Given the description of an element on the screen output the (x, y) to click on. 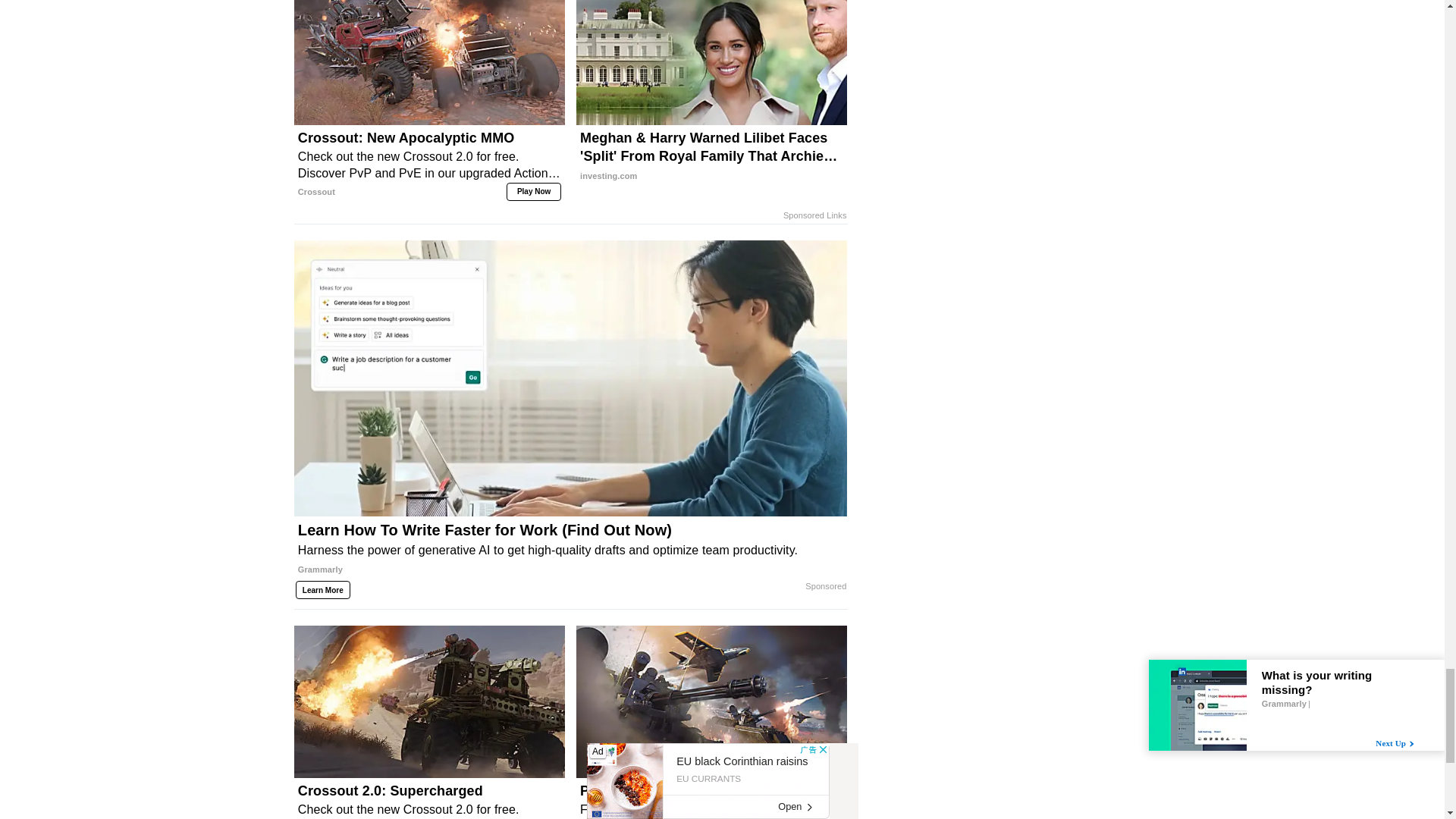
Sponsored Links (815, 216)
Crossout: New Apocalyptic MMO (429, 164)
Play Now (533, 191)
